Given the description of an element on the screen output the (x, y) to click on. 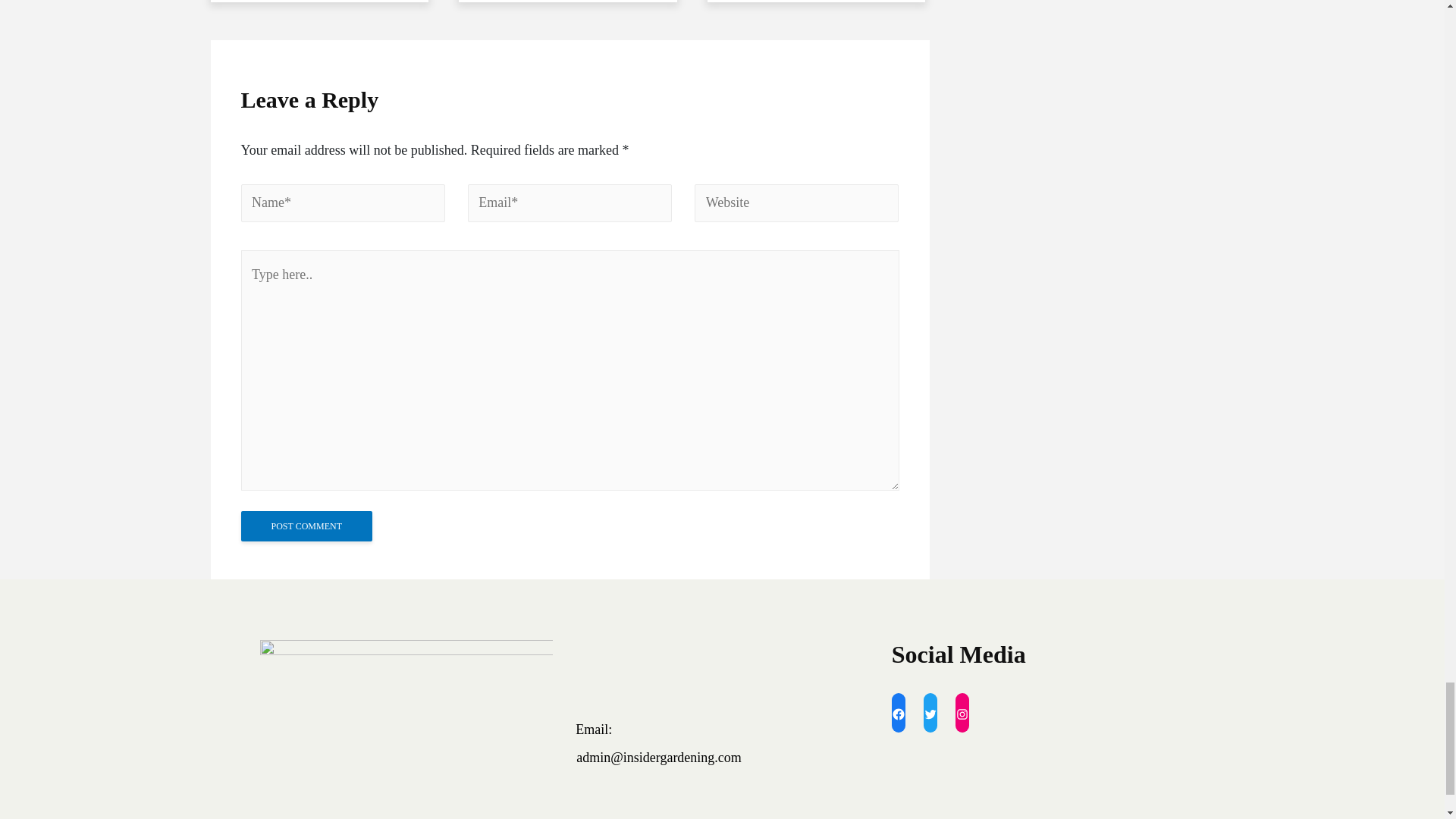
Post Comment (306, 526)
Post Comment (306, 526)
